Given the description of an element on the screen output the (x, y) to click on. 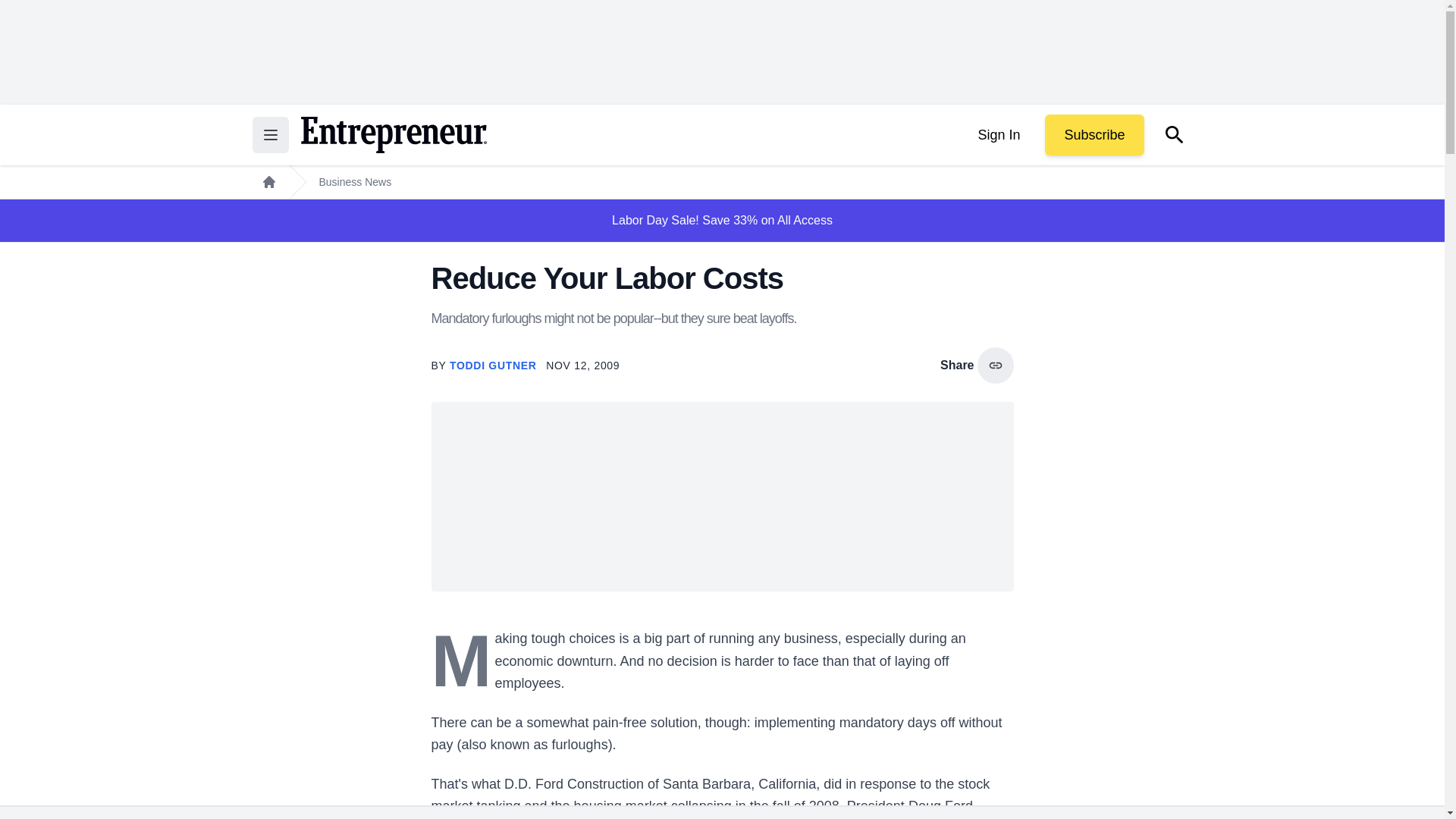
Subscribe (1093, 134)
Return to the home page (392, 135)
copy (994, 365)
Sign In (998, 134)
